Given the description of an element on the screen output the (x, y) to click on. 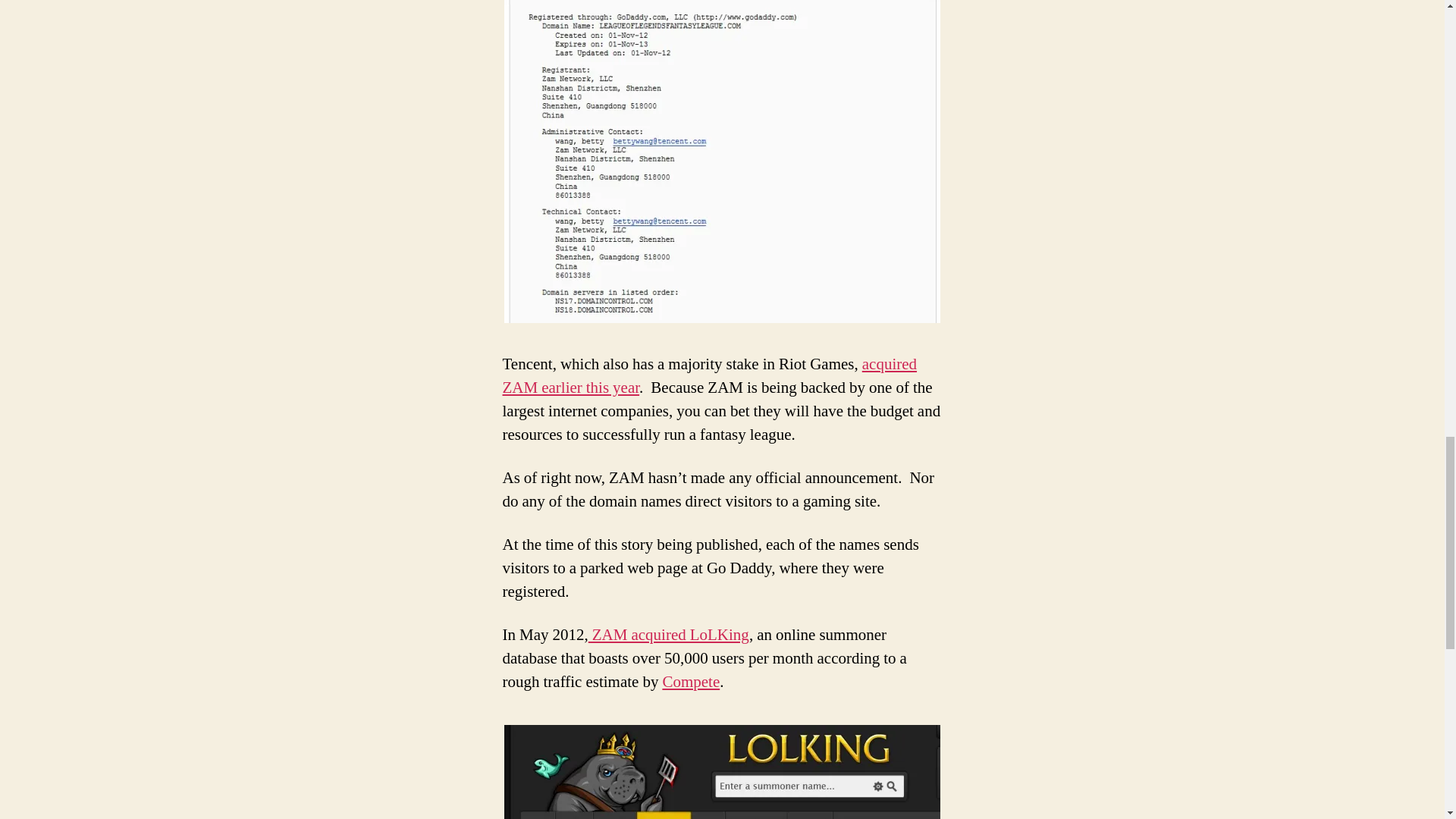
LoL King (721, 771)
Exciting News! Tencent acquires ZAM (709, 375)
Compete (690, 681)
LoLKing (668, 634)
